Given the description of an element on the screen output the (x, y) to click on. 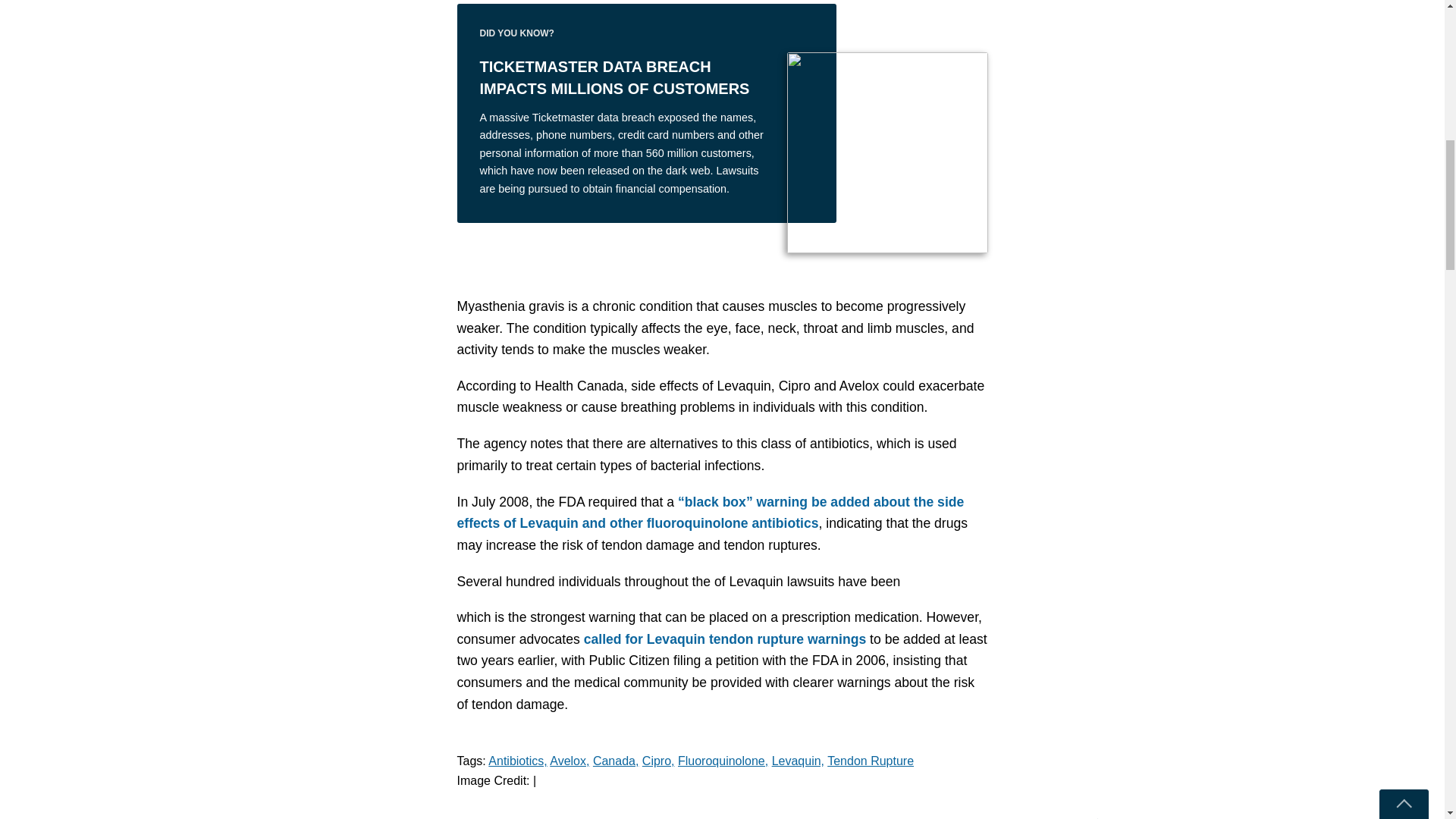
called for Levaquin tendon rupture warnings (724, 639)
Canada, (615, 760)
Avelox, (569, 760)
Antibiotics, (517, 760)
